Given the description of an element on the screen output the (x, y) to click on. 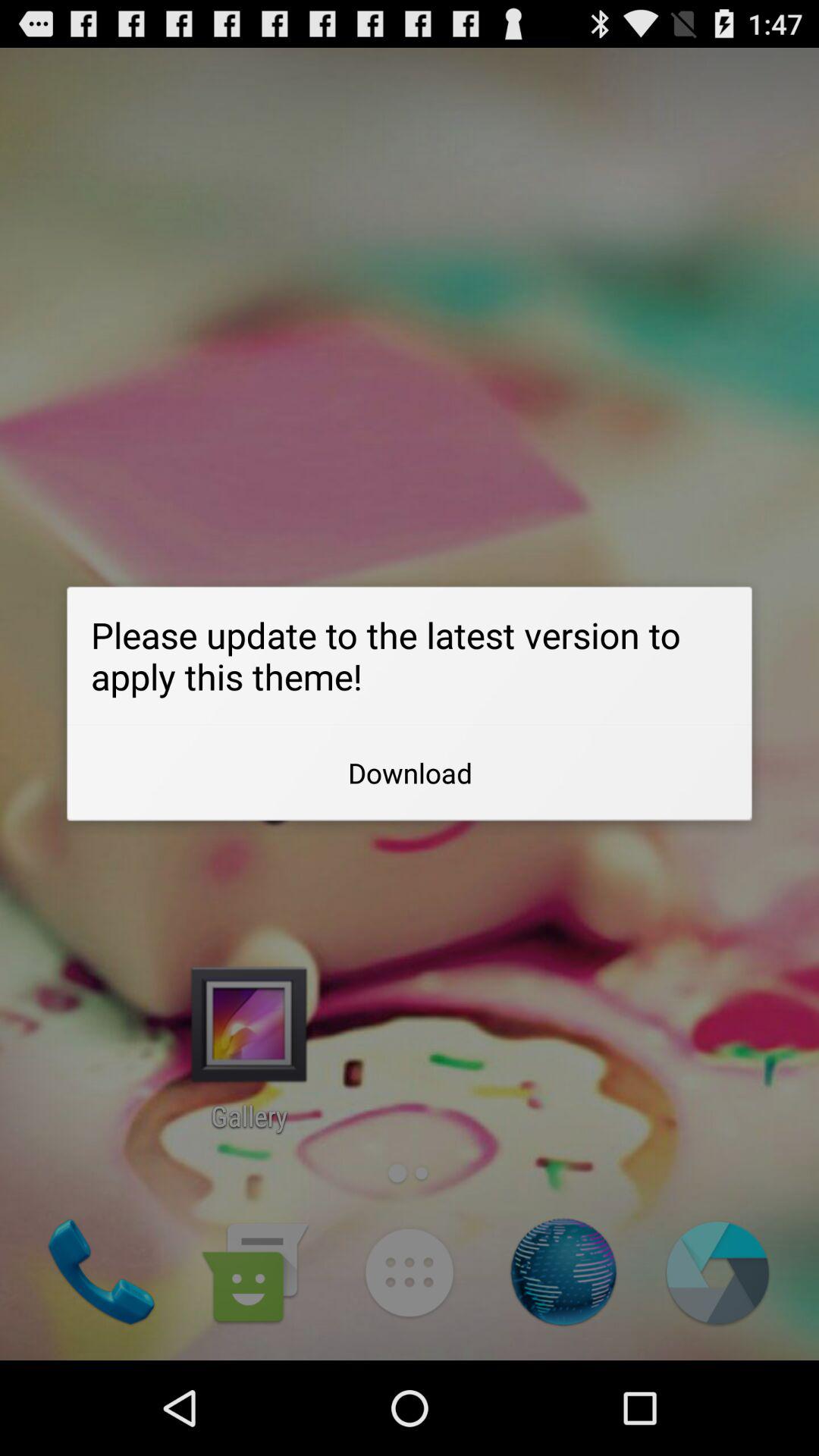
scroll to the download button (409, 772)
